Given the description of an element on the screen output the (x, y) to click on. 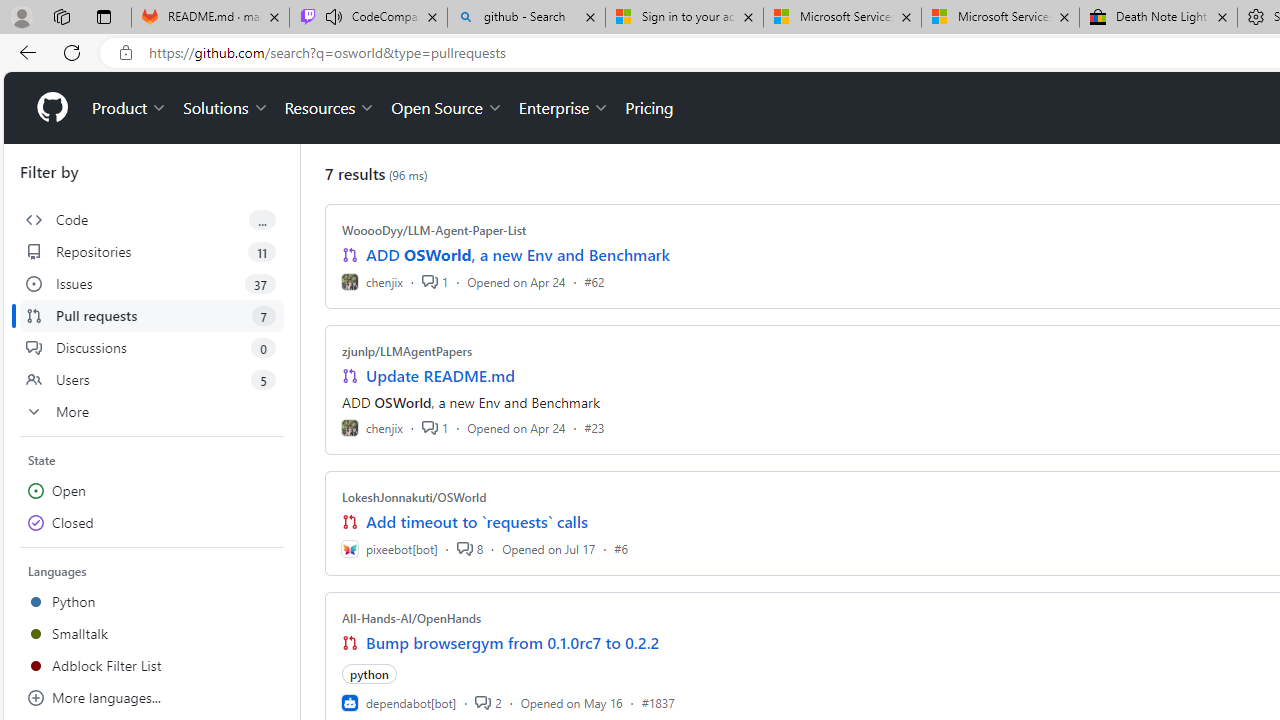
More languages... (152, 697)
Add timeout to `requests` calls (476, 521)
Product (130, 107)
chenjix (372, 427)
More languages... (152, 697)
github - Search (526, 17)
Solutions (225, 107)
#1837 (657, 702)
Enterprise (563, 107)
